Given the description of an element on the screen output the (x, y) to click on. 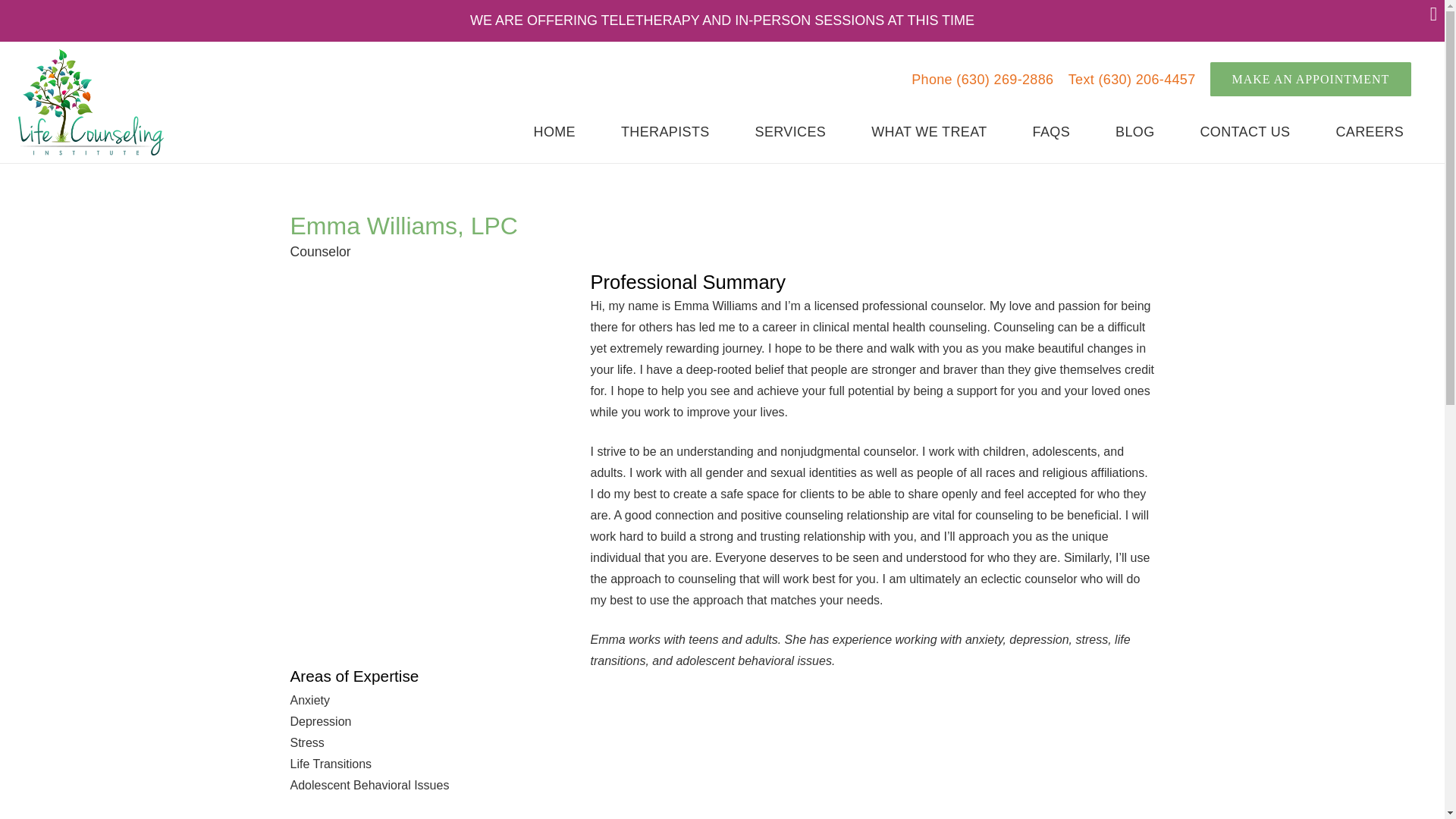
WHAT WE TREAT (928, 131)
MAKE AN APPOINTMENT (1309, 79)
HOME (554, 131)
SERVICES (790, 131)
THERAPISTS (665, 131)
